Given the description of an element on the screen output the (x, y) to click on. 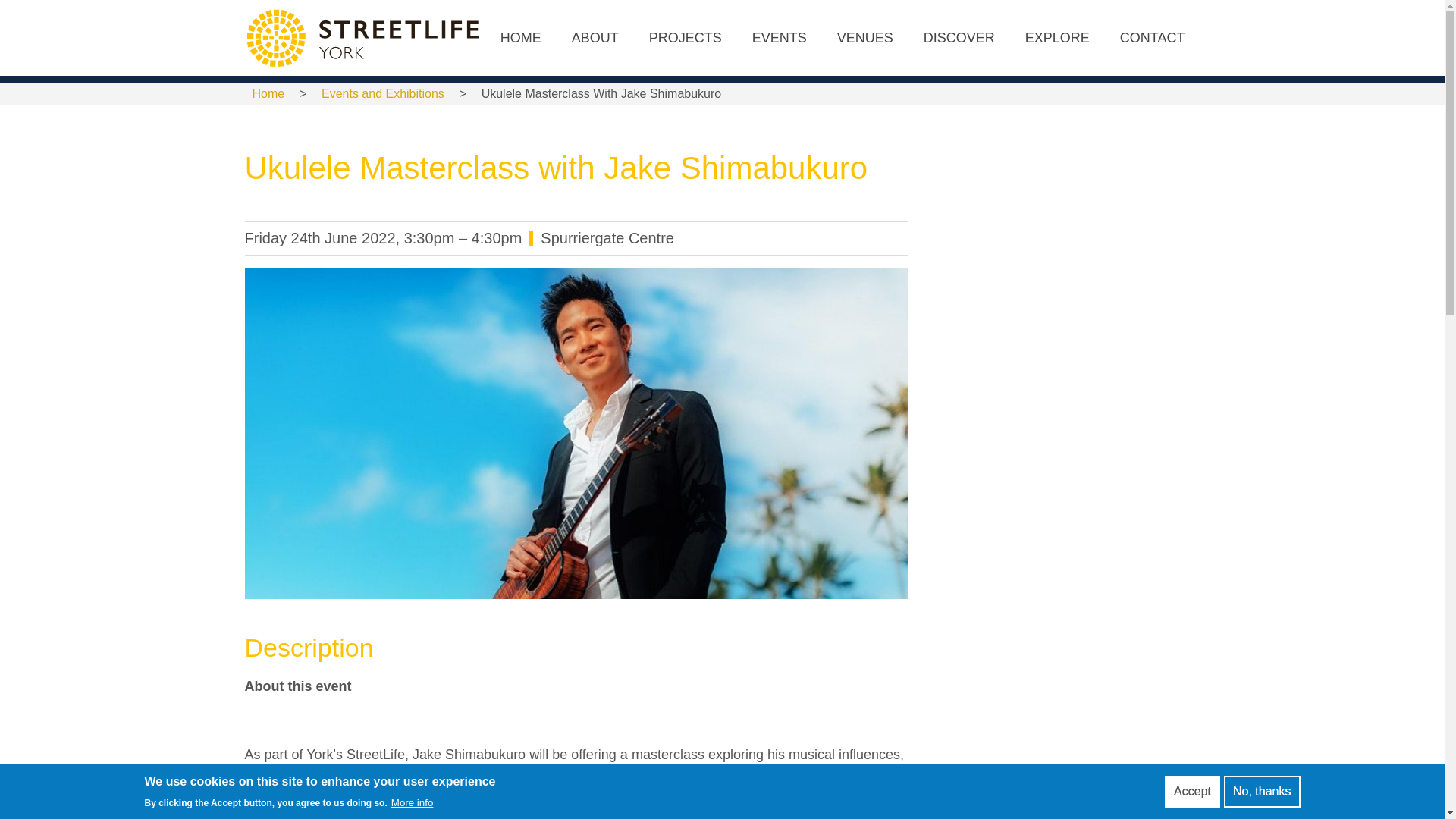
ABOUT (594, 37)
DISCOVER (959, 37)
EVENTS (779, 37)
Events and Exhibitions (382, 92)
CONTACT (1152, 37)
HOME (520, 37)
PROJECTS (684, 37)
Home (267, 92)
EXPLORE (1057, 37)
VENUES (865, 37)
